Given the description of an element on the screen output the (x, y) to click on. 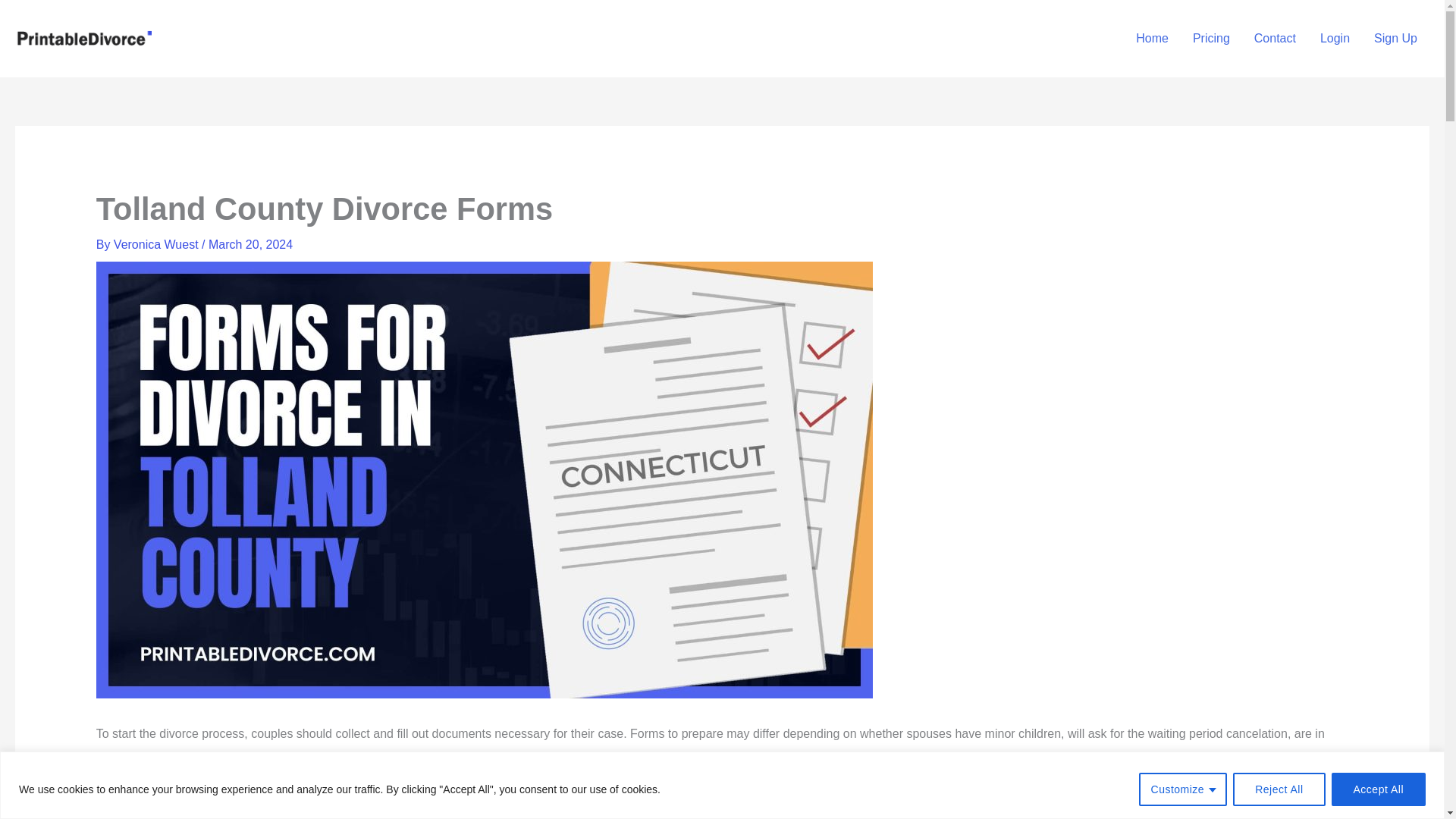
View all posts by Veronica Wuest (157, 244)
Contact (1274, 38)
Sign Up (1395, 38)
Pricing (1210, 38)
Veronica Wuest (157, 244)
Home (1152, 38)
Accept All (1378, 788)
Reject All (1278, 788)
Customize (1182, 788)
Login (1334, 38)
